Given the description of an element on the screen output the (x, y) to click on. 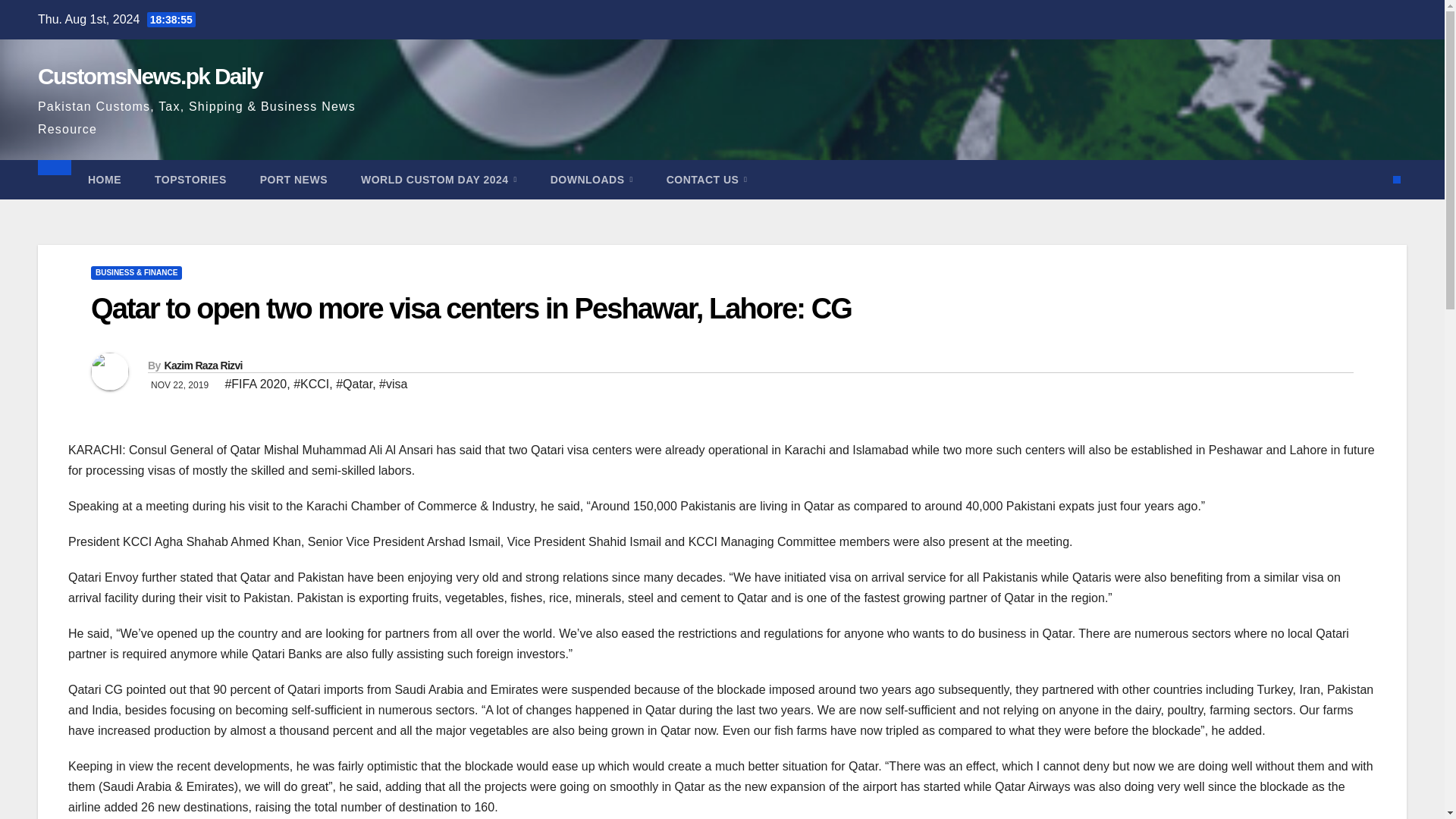
TopStories (190, 179)
Home (104, 179)
DOWNLOADS (591, 179)
HOME (104, 179)
TOPSTORIES (190, 179)
WORLD CUSTOM DAY 2024 (438, 179)
World Custom Day 2024 (438, 179)
PORT NEWS (293, 179)
Port News (293, 179)
CustomsNews.pk Daily (149, 75)
